Given the description of an element on the screen output the (x, y) to click on. 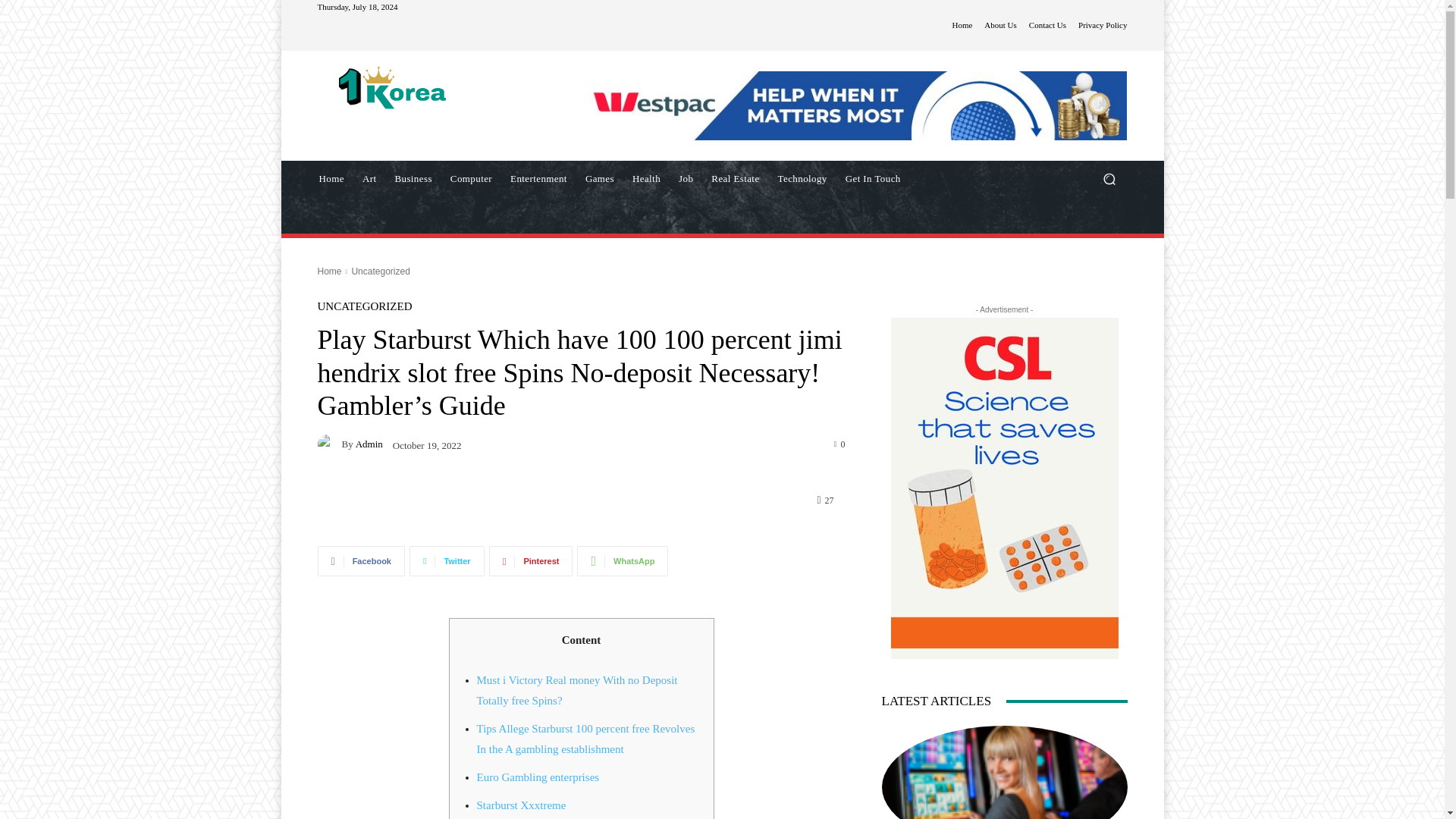
Get In Touch (872, 178)
Job (685, 178)
Real Estate (734, 178)
Privacy Policy (1102, 25)
About Us (1000, 25)
Computer (470, 178)
Contact Us (1047, 25)
Facebook (360, 561)
Home (962, 25)
WhatsApp (622, 561)
Health (646, 178)
Pinterest (531, 561)
Home (330, 178)
Twitter (446, 561)
Games (599, 178)
